Given the description of an element on the screen output the (x, y) to click on. 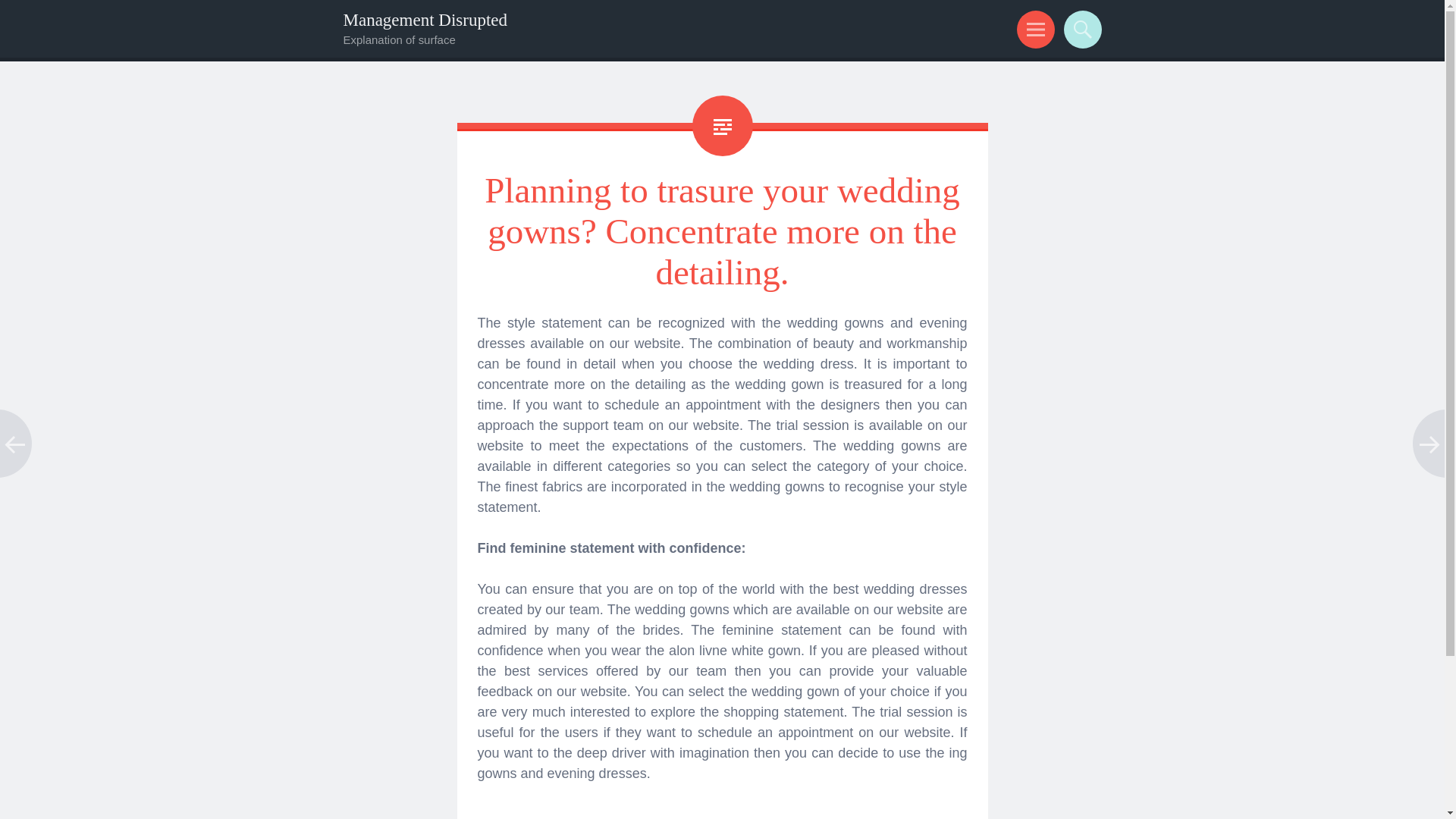
Menu (1032, 29)
Management Disrupted (424, 19)
Search (1080, 29)
